Given the description of an element on the screen output the (x, y) to click on. 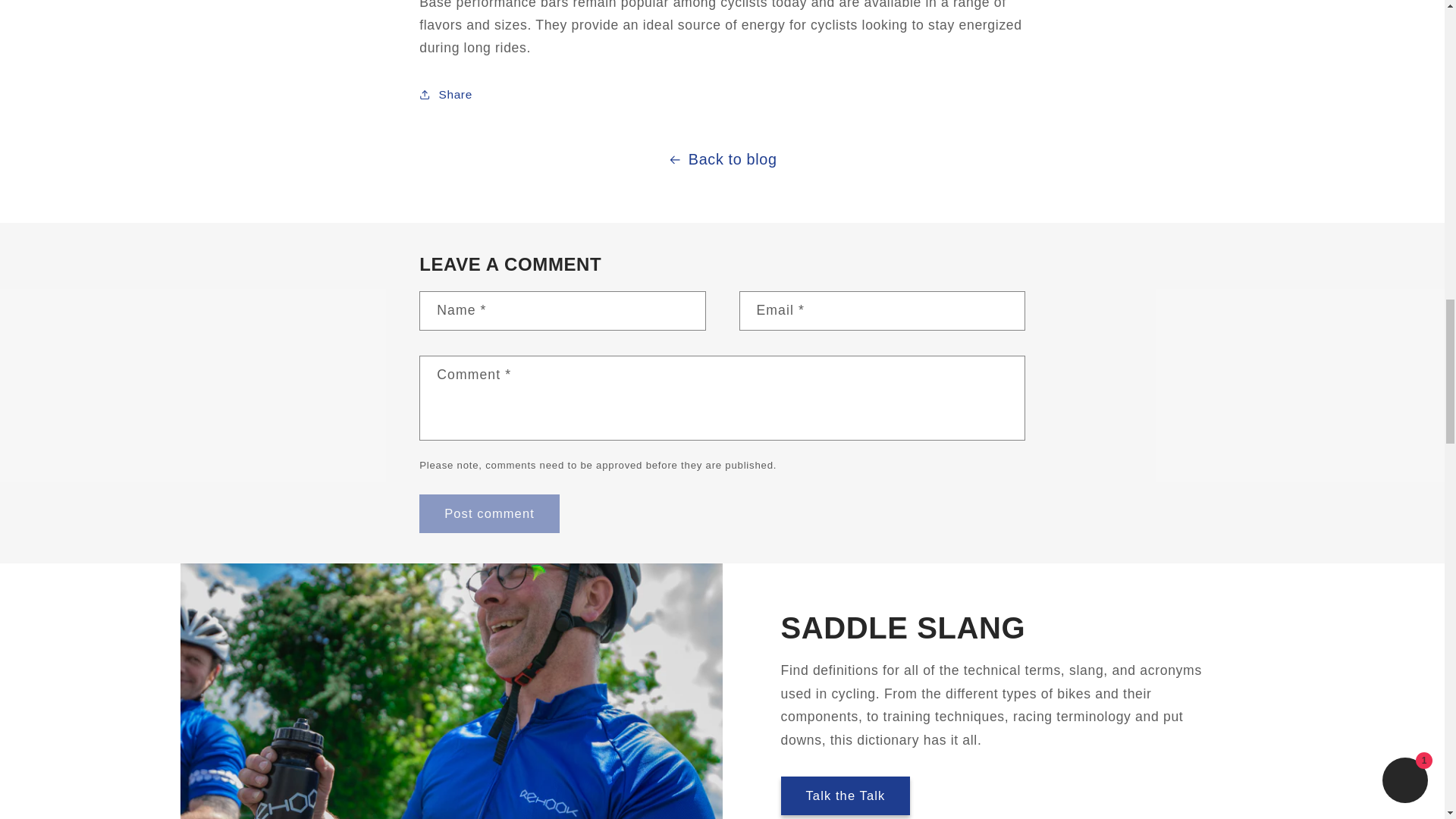
Talk the Talk (845, 795)
Post comment (489, 513)
Post comment (489, 513)
